Given the description of an element on the screen output the (x, y) to click on. 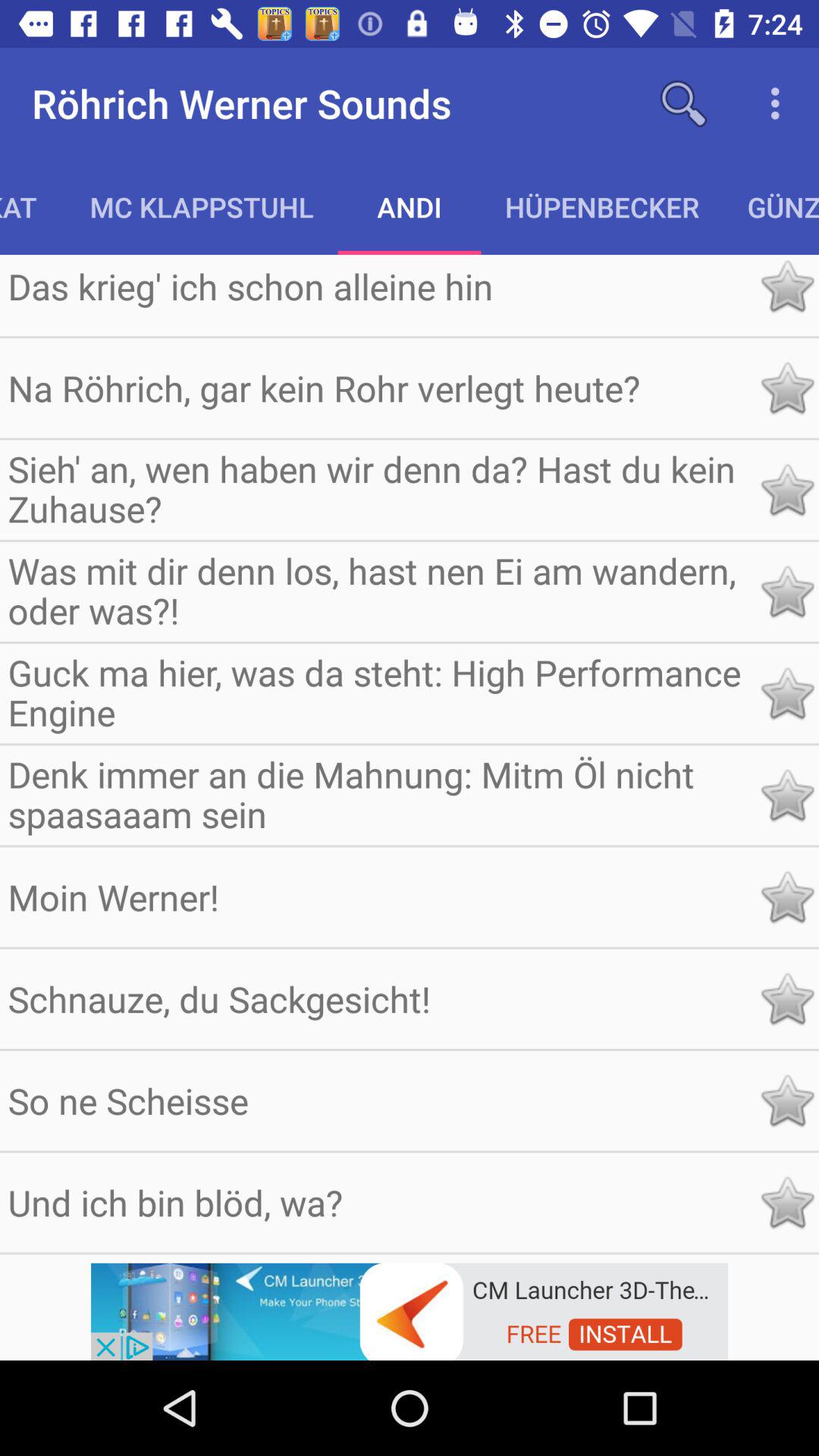
add to favorites (787, 693)
